Given the description of an element on the screen output the (x, y) to click on. 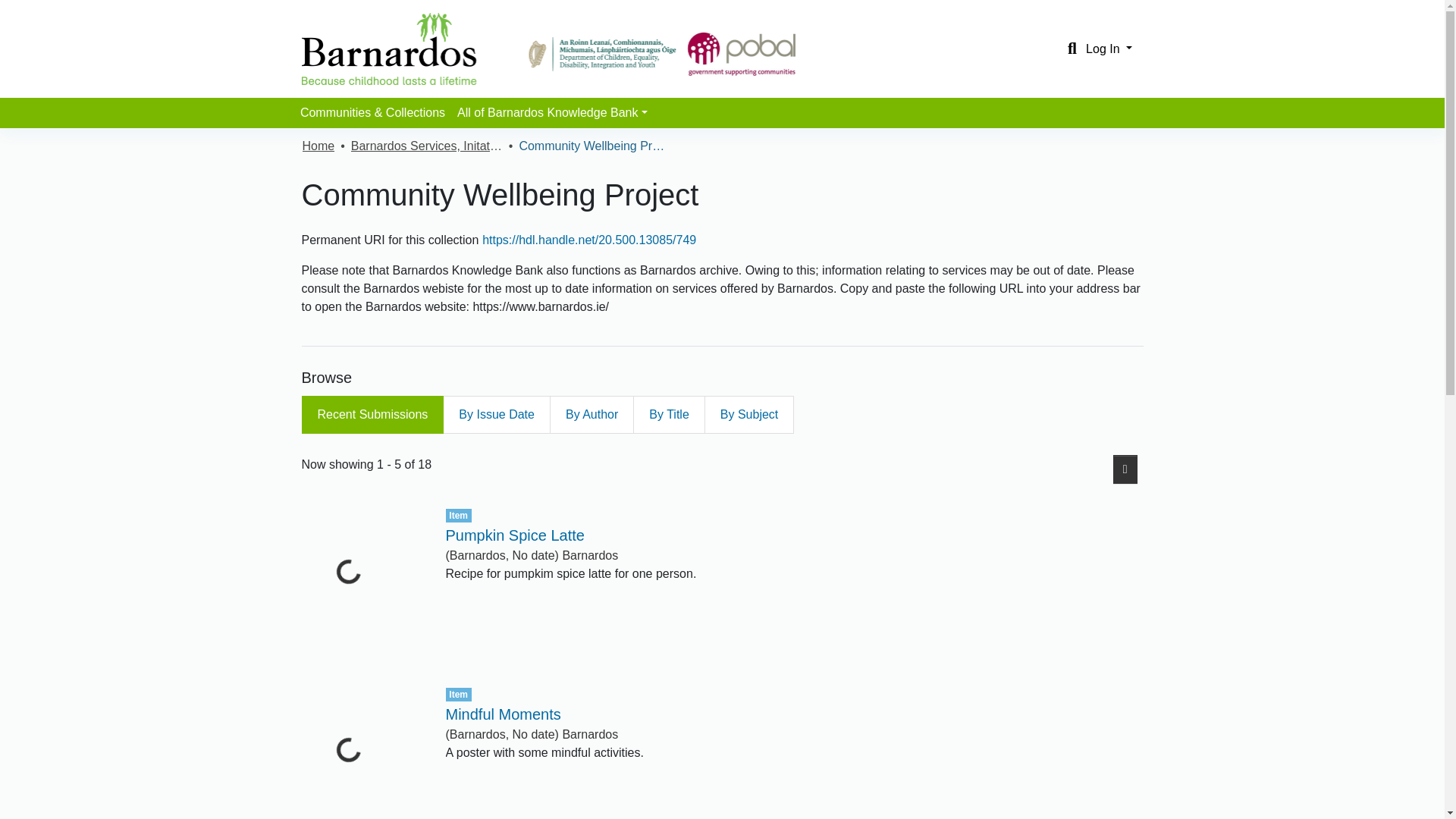
All of Barnardos Knowledge Bank (551, 112)
By Title (668, 414)
Pumpkin Spice Latte (515, 535)
By Subject (748, 414)
By Issue Date (496, 414)
Recent Submissions (372, 414)
Mindful Moments (502, 713)
Home (317, 146)
Log In (1108, 48)
Loading... (362, 751)
By Author (591, 414)
Search (1072, 48)
